Given the description of an element on the screen output the (x, y) to click on. 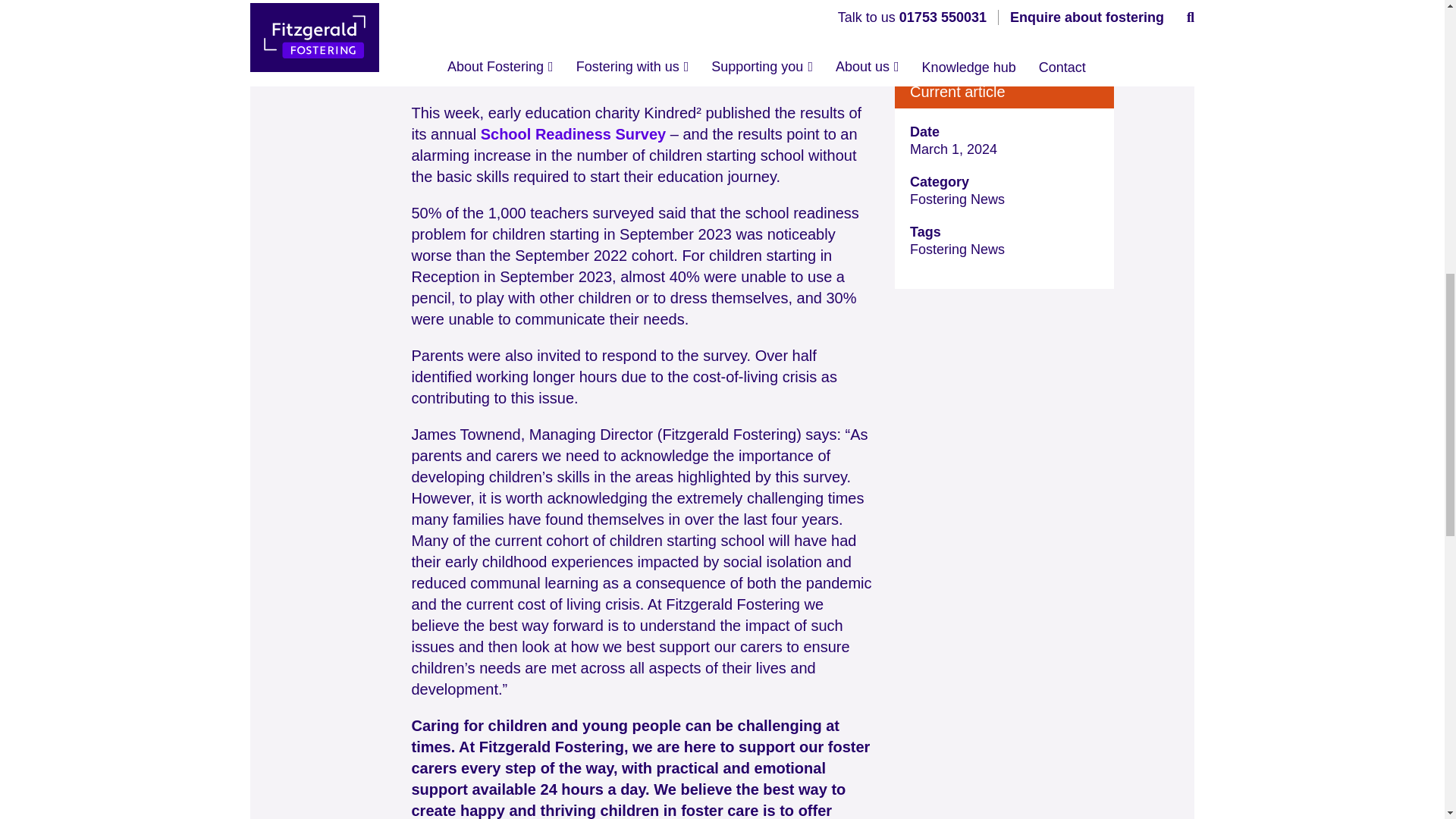
Fostering News (1004, 199)
School Readiness Survey (573, 134)
Fostering Stories (1004, 13)
Fostering News (957, 249)
